Given the description of an element on the screen output the (x, y) to click on. 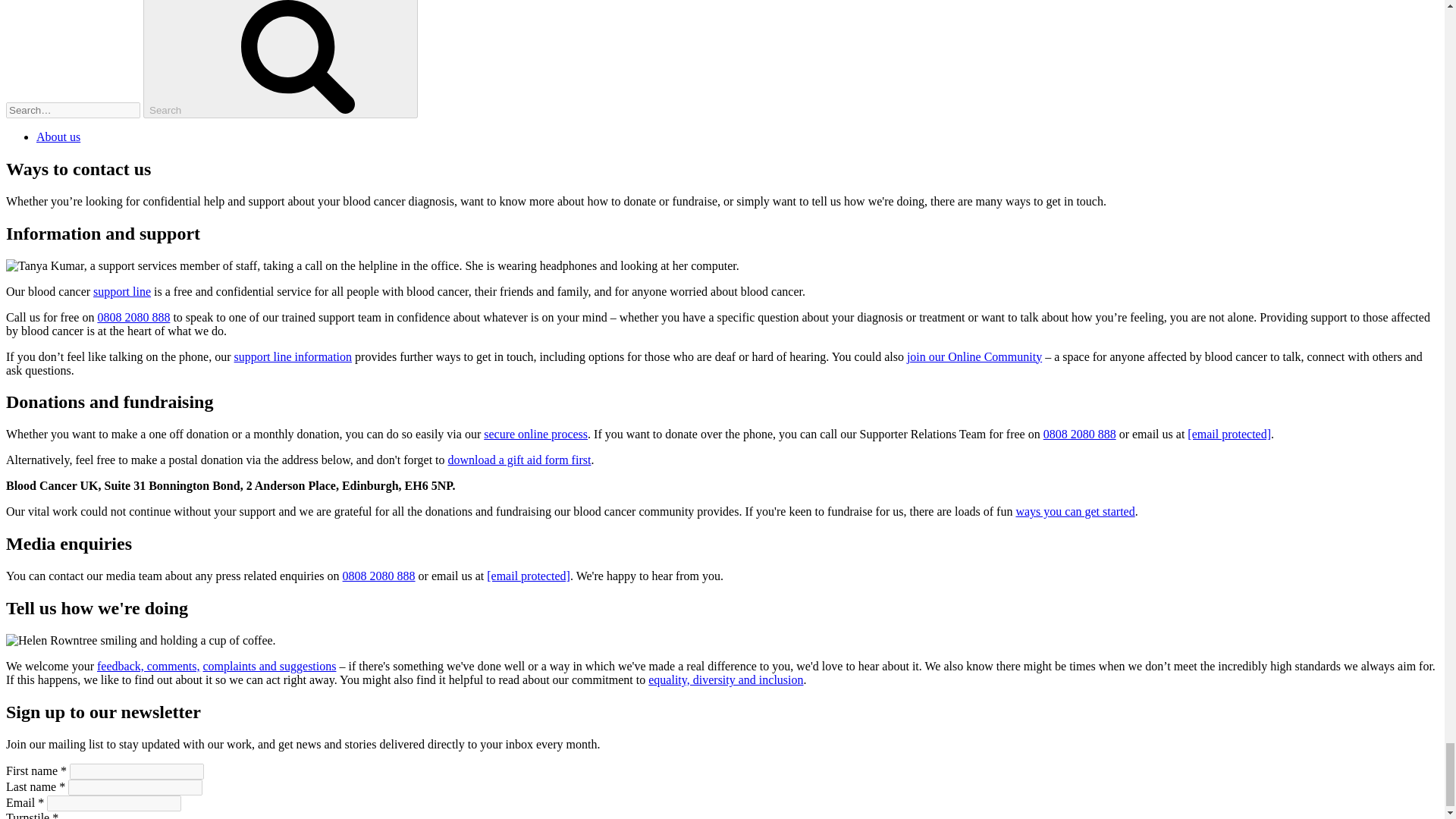
About us (58, 136)
